Given the description of an element on the screen output the (x, y) to click on. 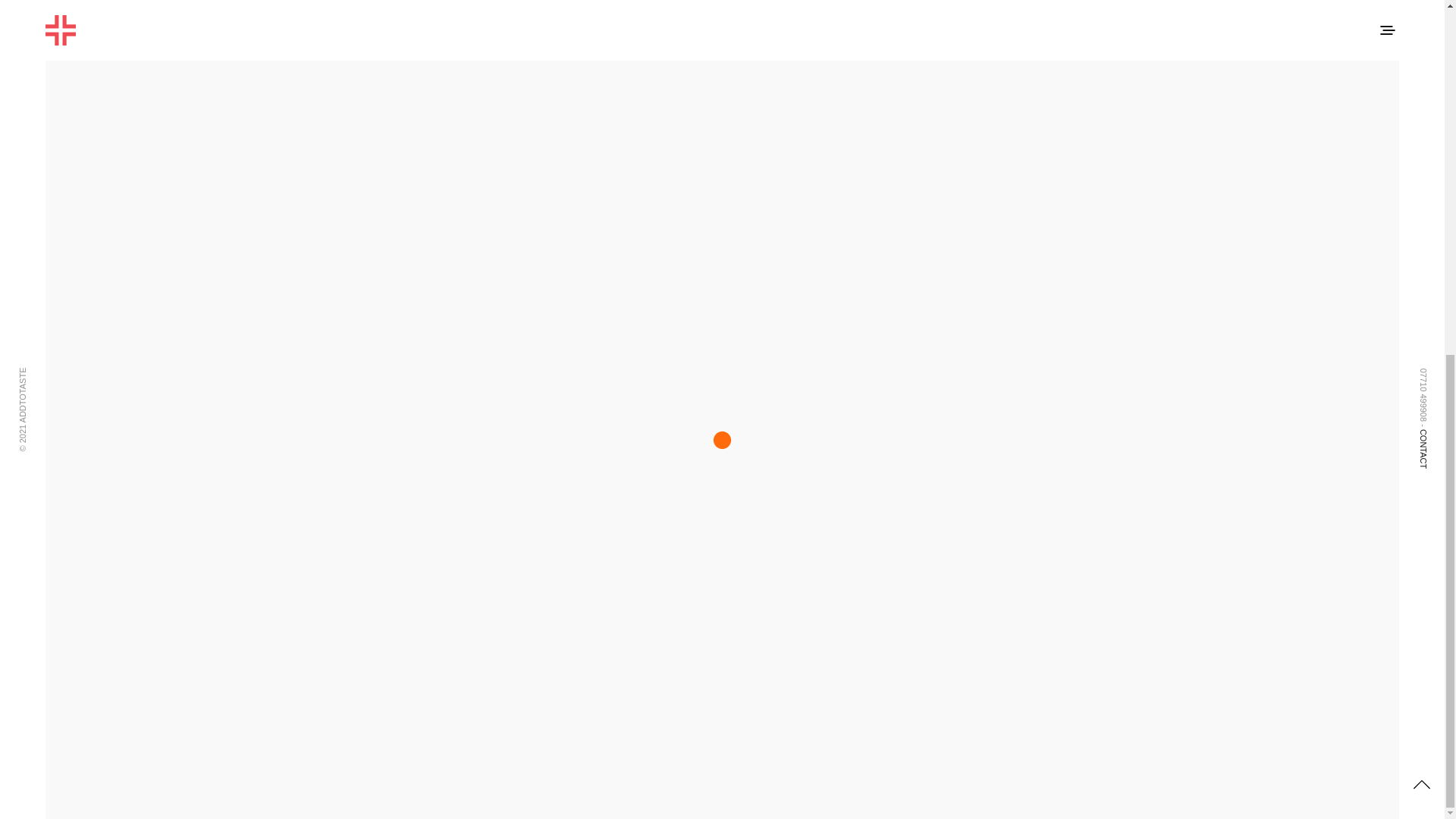
Share (721, 726)
book of ra player (646, 71)
